Given the description of an element on the screen output the (x, y) to click on. 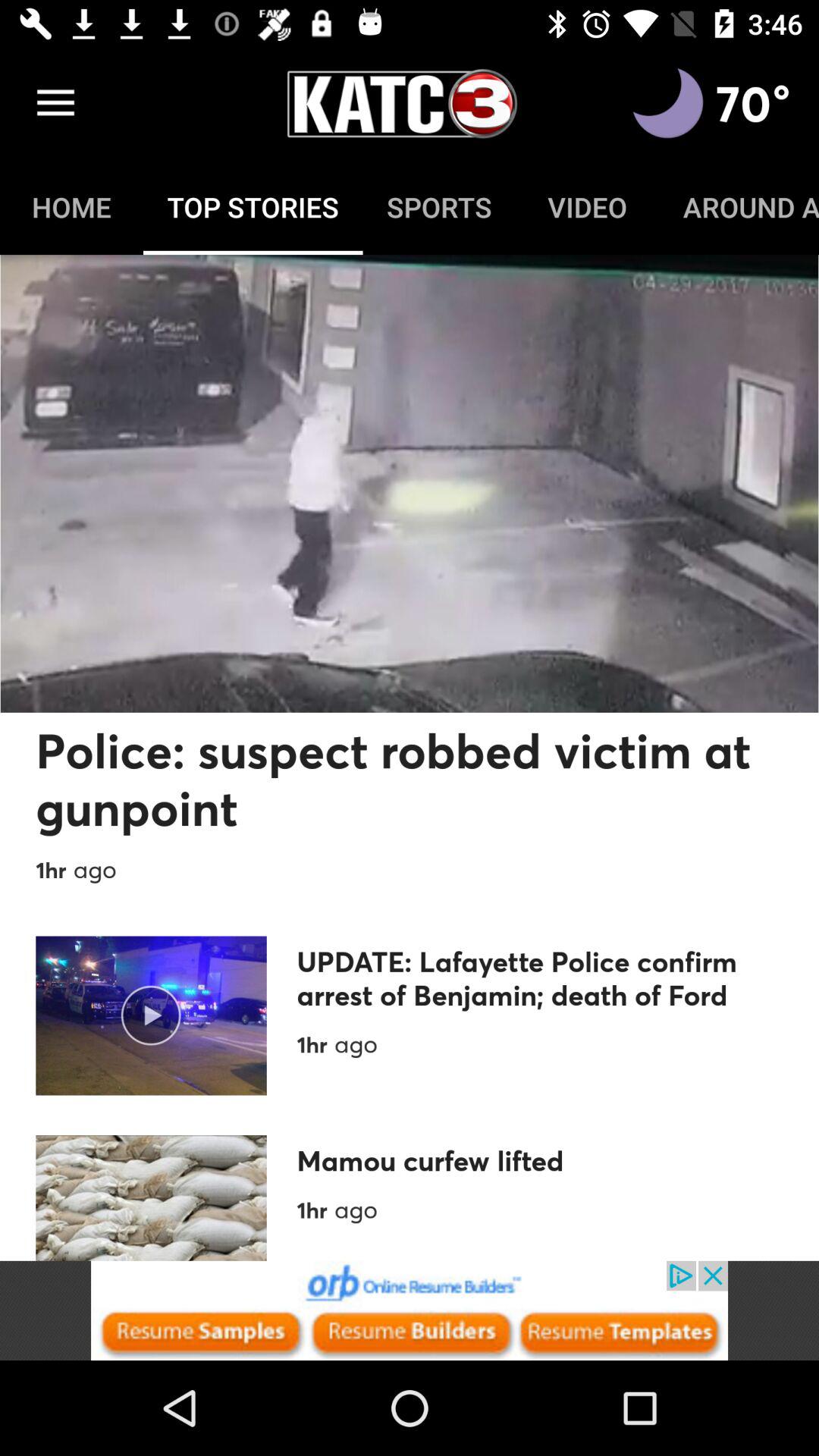
click on play button which is under the police suspect robbed victim at gun point (150, 1015)
click on 70 at top right (753, 103)
select the video left to the text update lafayette police confirm arrest of benjamin death of ford (151, 1016)
